Given the description of an element on the screen output the (x, y) to click on. 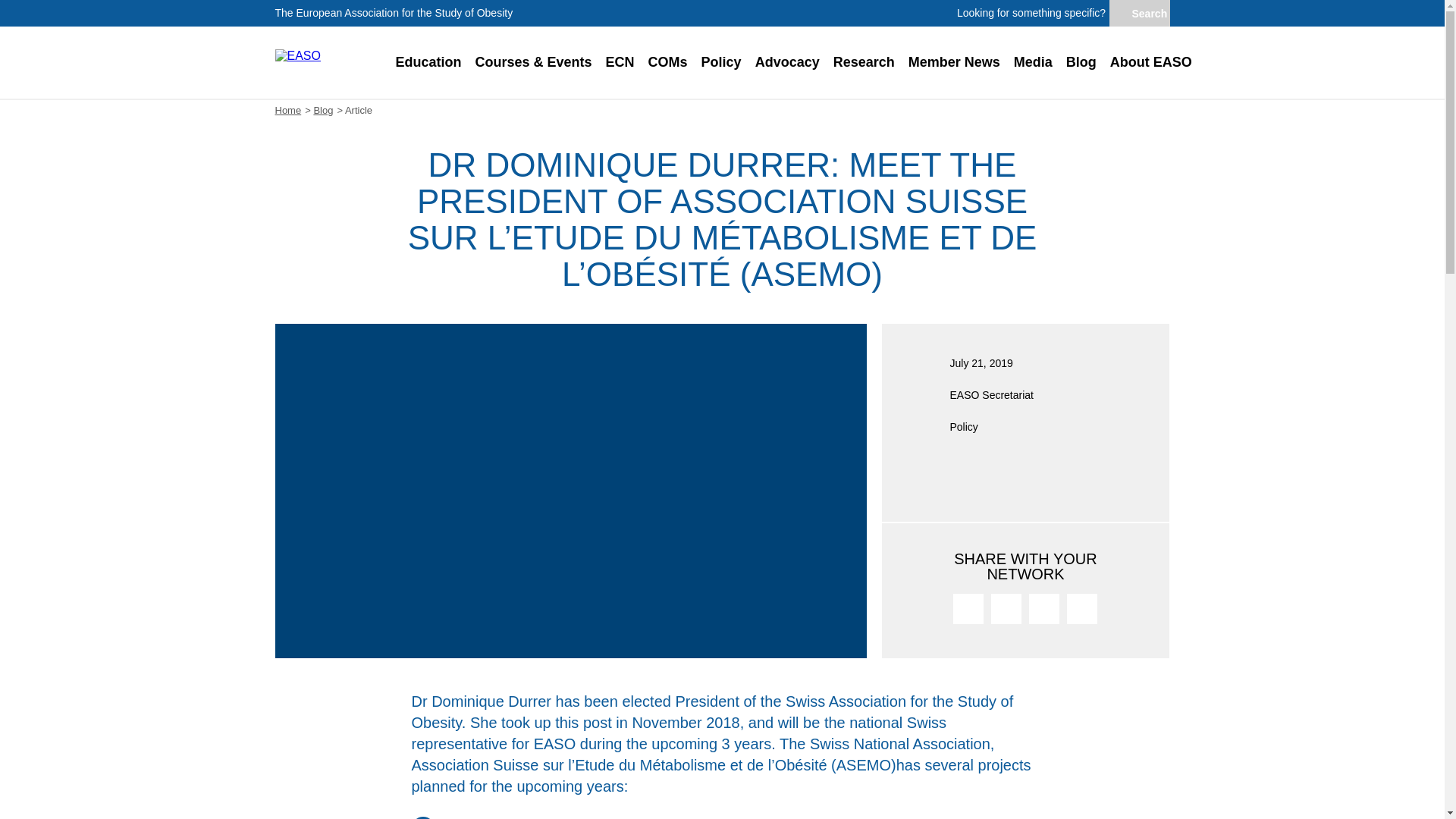
COMs (668, 62)
Search (1138, 13)
ECN (620, 62)
Education (427, 62)
Policy (721, 62)
Advocacy (787, 62)
